Given the description of an element on the screen output the (x, y) to click on. 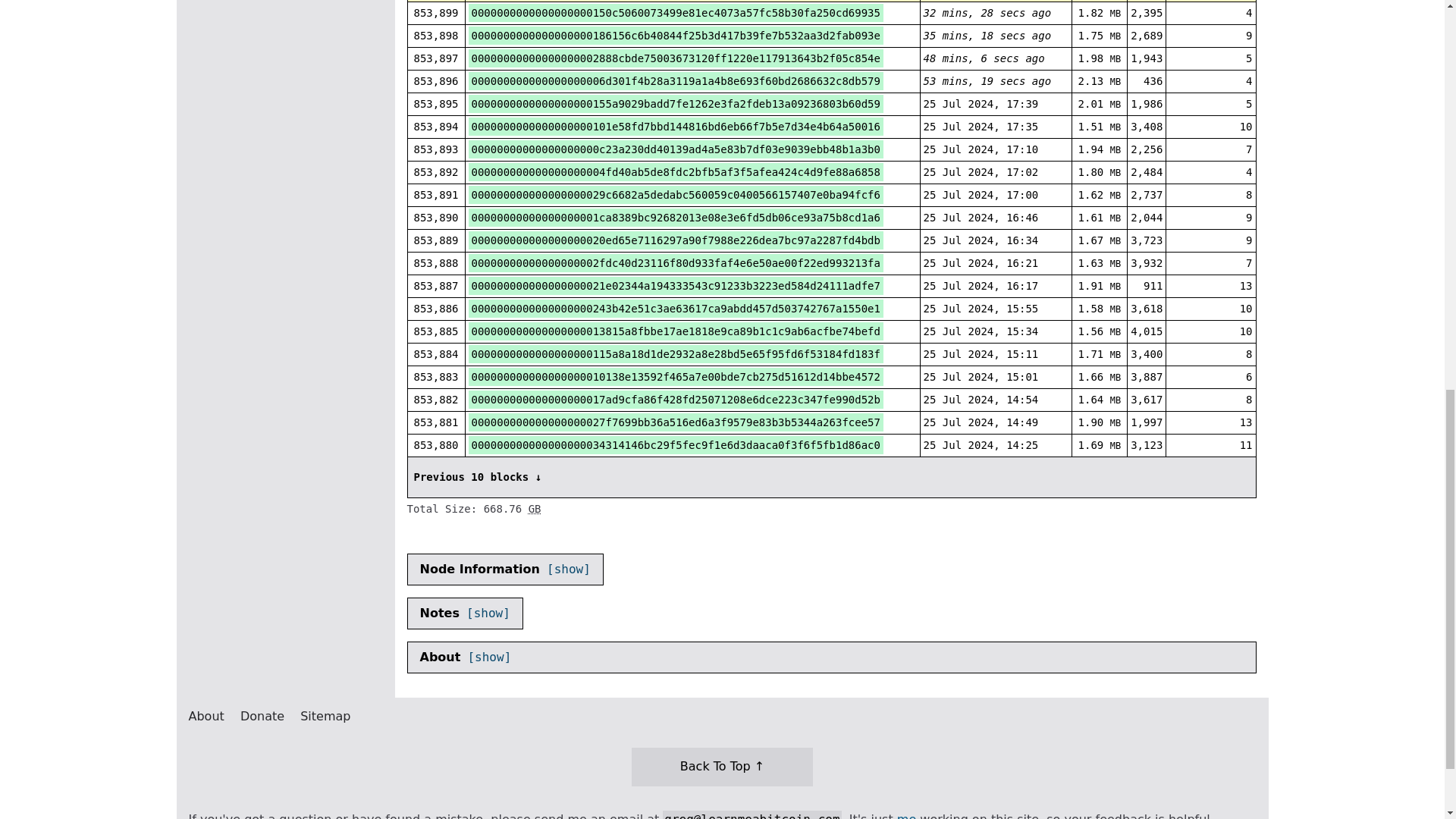
gigabytes (534, 508)
